Given the description of an element on the screen output the (x, y) to click on. 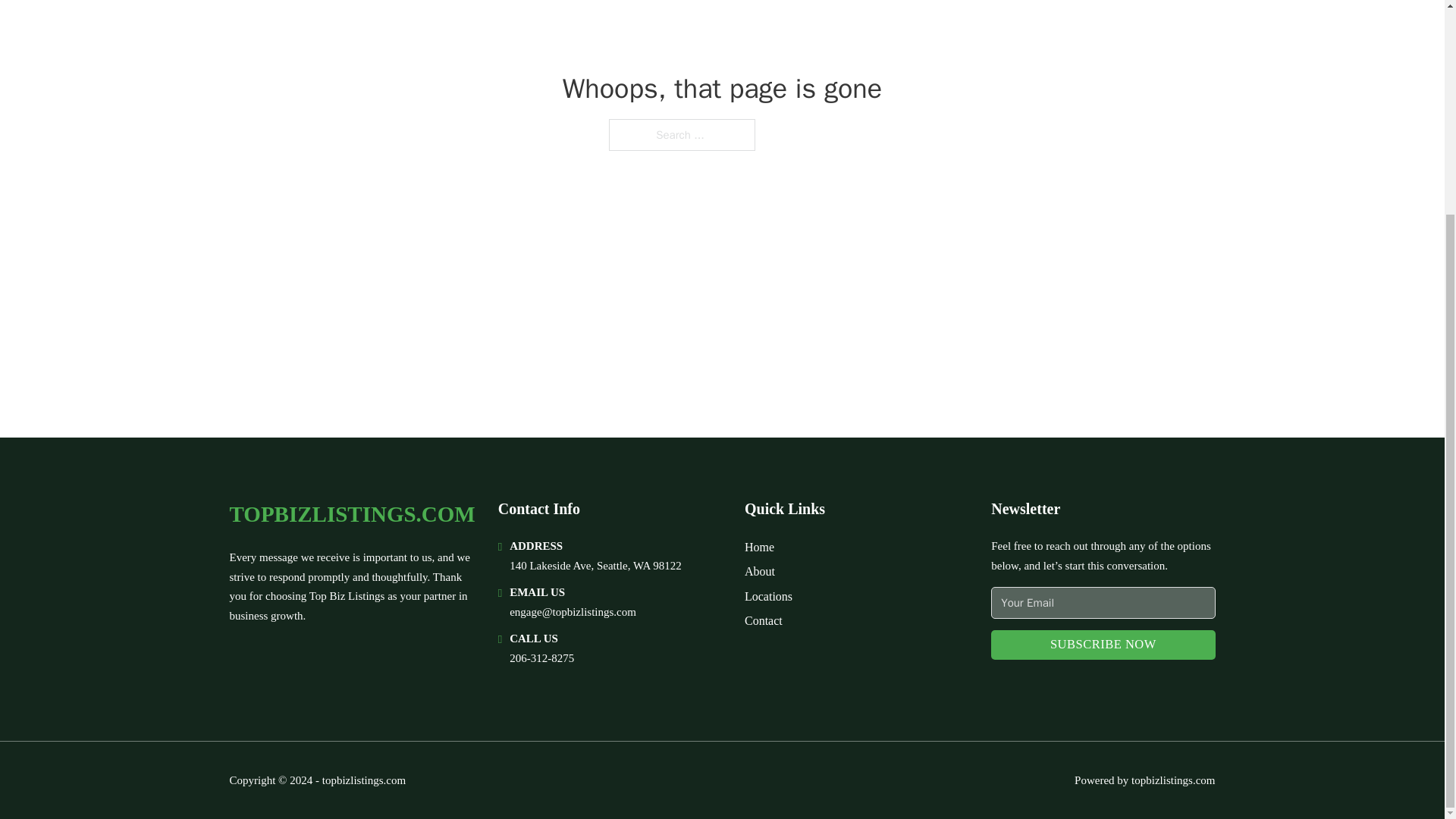
Contact (763, 620)
206-312-8275 (541, 657)
Locations (768, 596)
Home (759, 547)
TOPBIZLISTINGS.COM (351, 514)
About (759, 571)
SUBSCRIBE NOW (1102, 644)
